Given the description of an element on the screen output the (x, y) to click on. 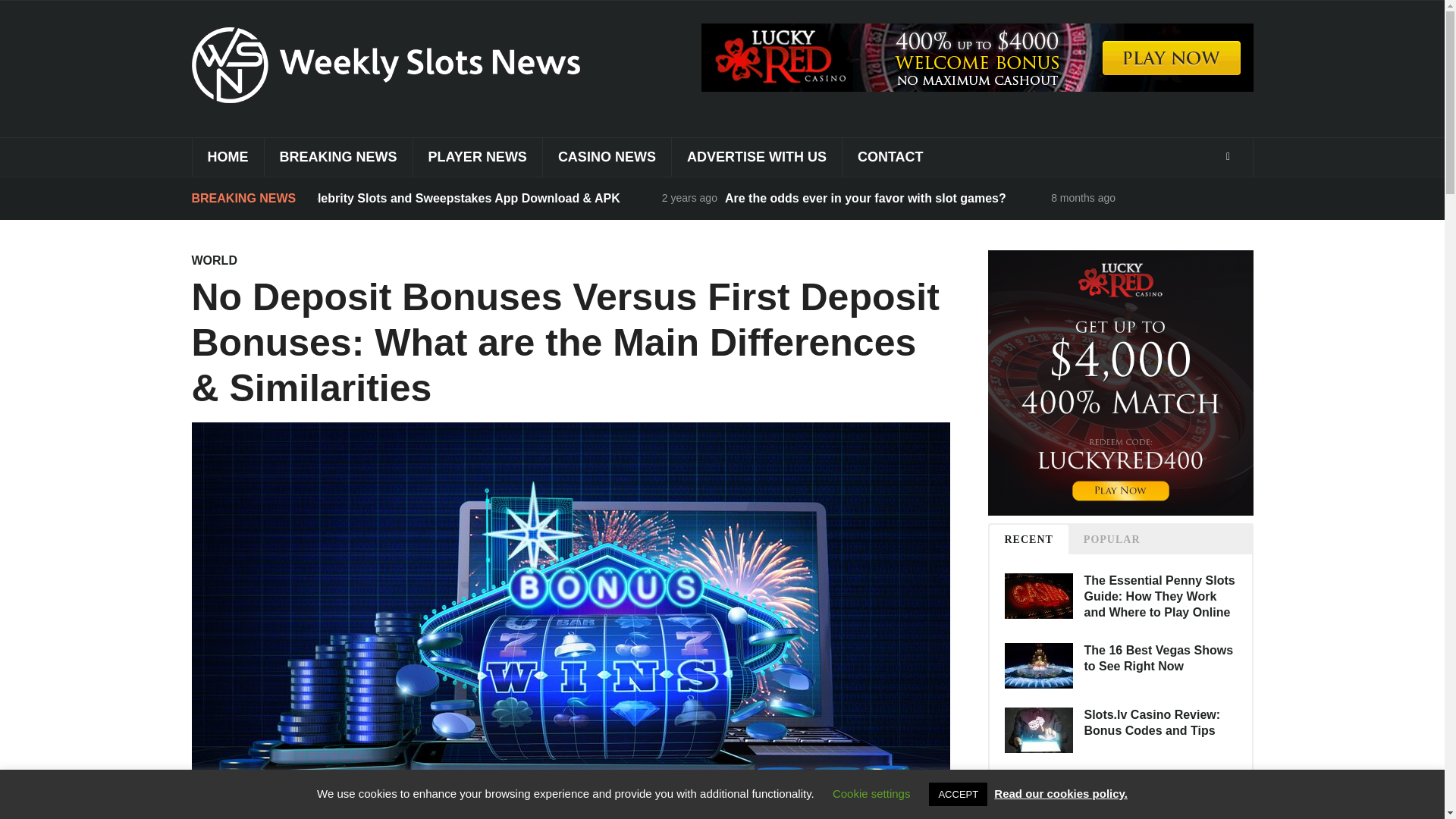
POPULAR (1112, 539)
Popular (1112, 539)
Recent (1027, 539)
ADVERTISE WITH US (756, 157)
Search (1227, 156)
HOME (226, 157)
BREAKING NEWS (337, 157)
RECENT (1027, 539)
Are the odds ever in your favor with slot games?  (867, 197)
CONTACT (890, 157)
PLAYER NEWS (476, 157)
WORLD (212, 259)
CASINO NEWS (606, 157)
